Given the description of an element on the screen output the (x, y) to click on. 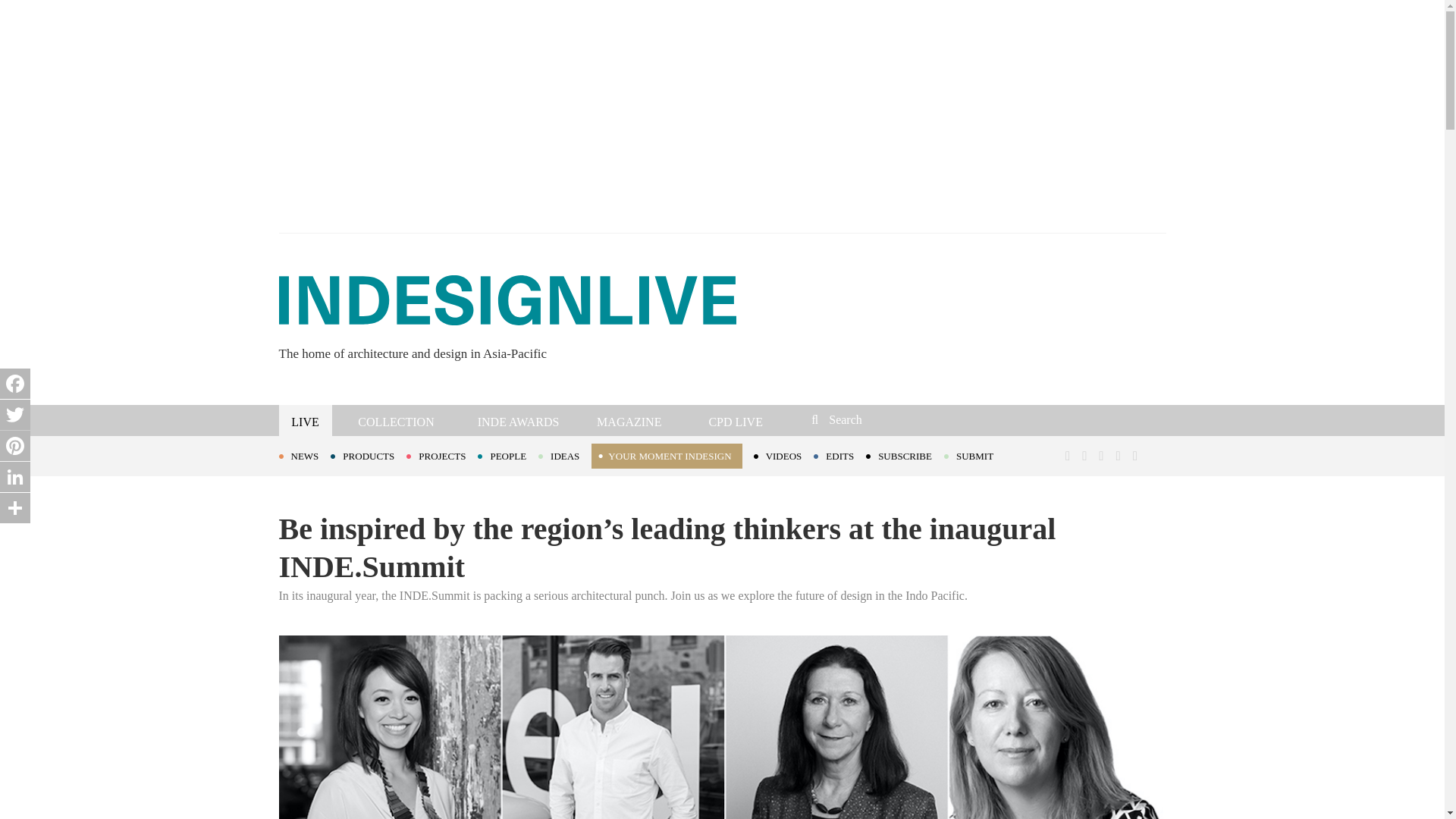
EDITS (839, 455)
SUBMIT (974, 455)
SUBSCRIBE (904, 455)
IDEAS (564, 455)
PROJECTS (441, 455)
NEWS (305, 455)
PEOPLE (507, 455)
PRODUCTS (368, 455)
Search (913, 418)
